Given the description of an element on the screen output the (x, y) to click on. 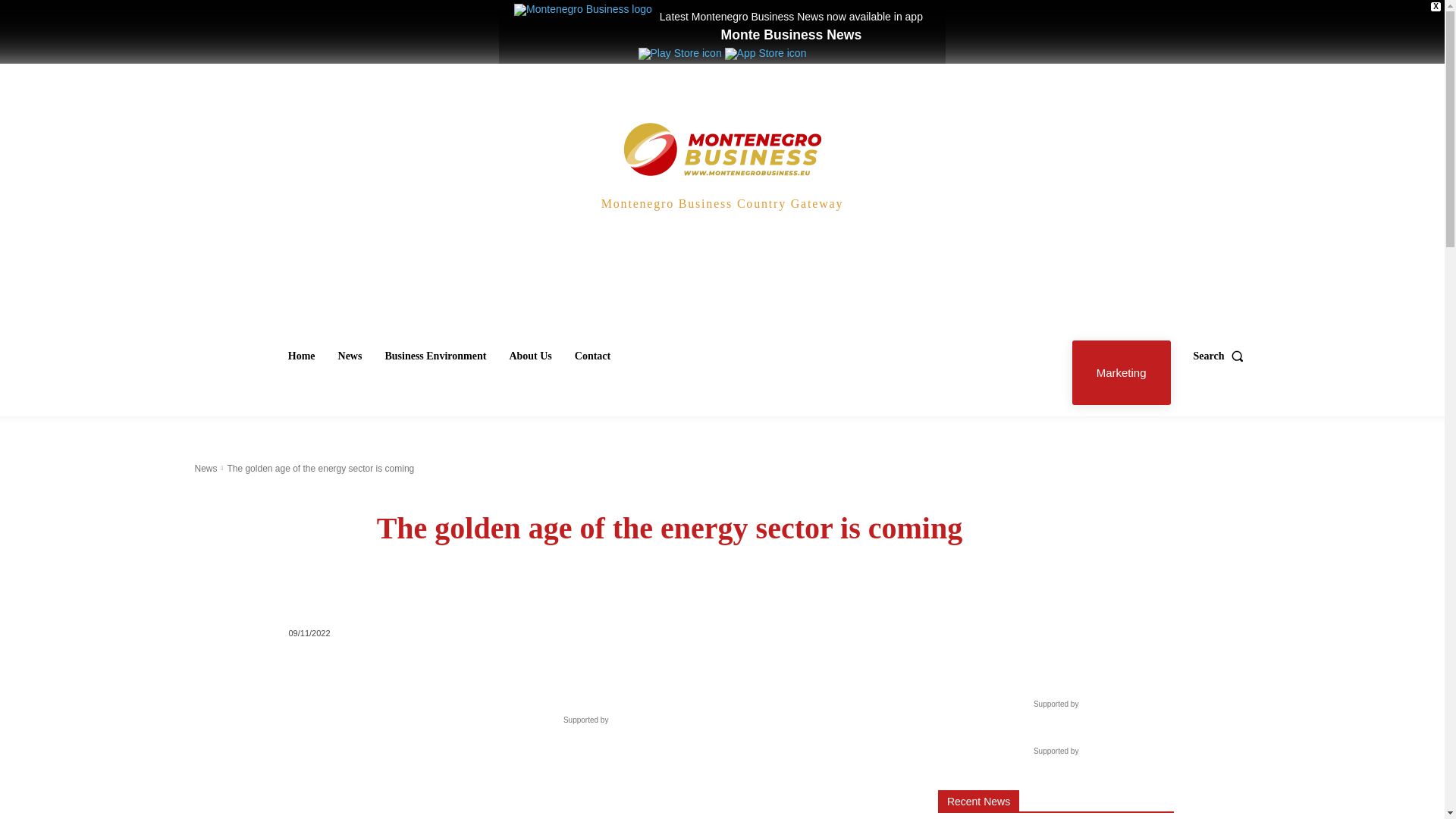
Contact (592, 356)
About Us (529, 356)
Home (302, 356)
Marketing (1120, 372)
Marketing (1120, 372)
Montenegro Business Country Gateway (721, 176)
News (204, 468)
News (349, 356)
Business Environment (435, 356)
Search (1221, 356)
